Given the description of an element on the screen output the (x, y) to click on. 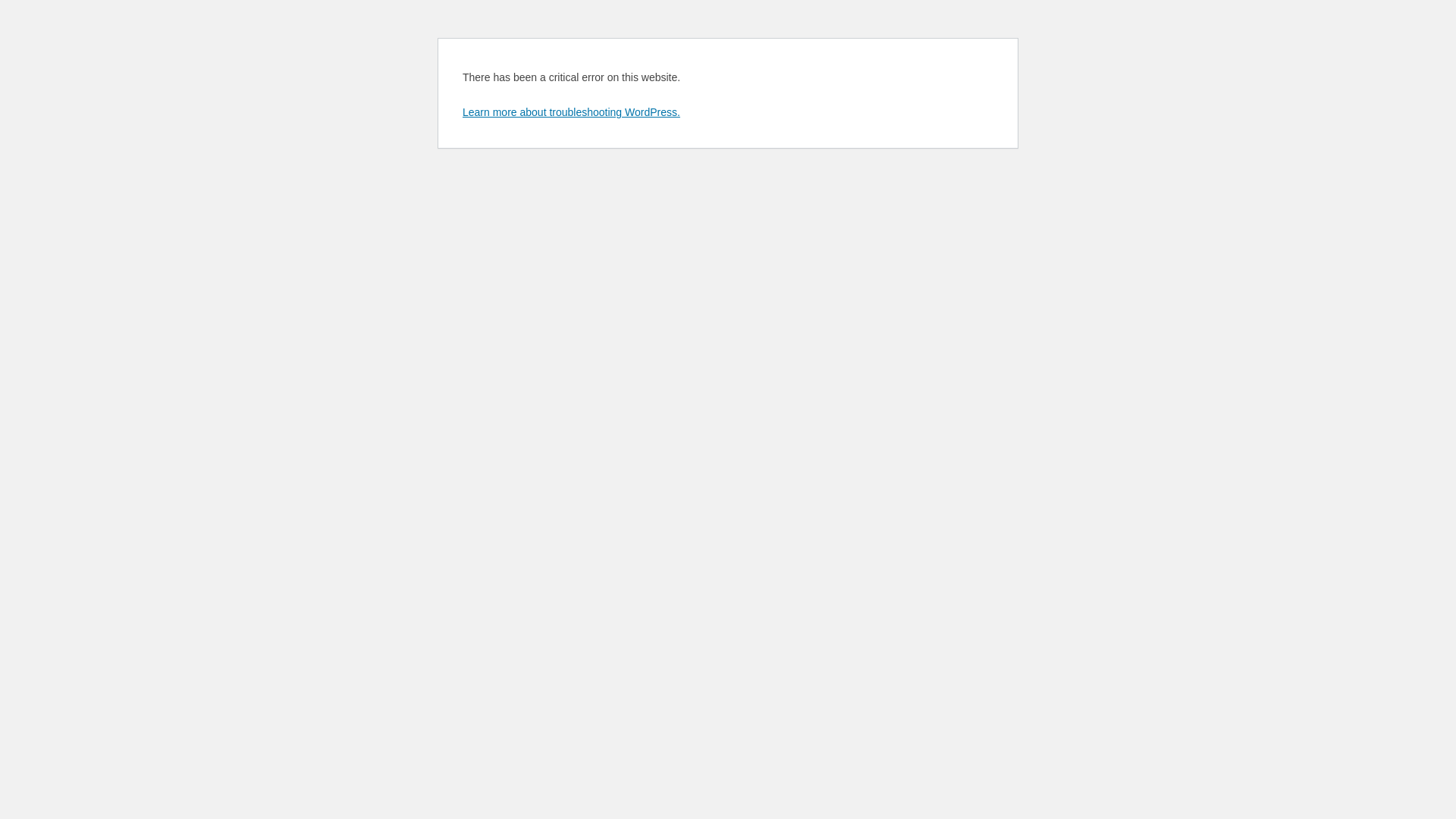
Learn more about troubleshooting WordPress. Element type: text (571, 112)
